Given the description of an element on the screen output the (x, y) to click on. 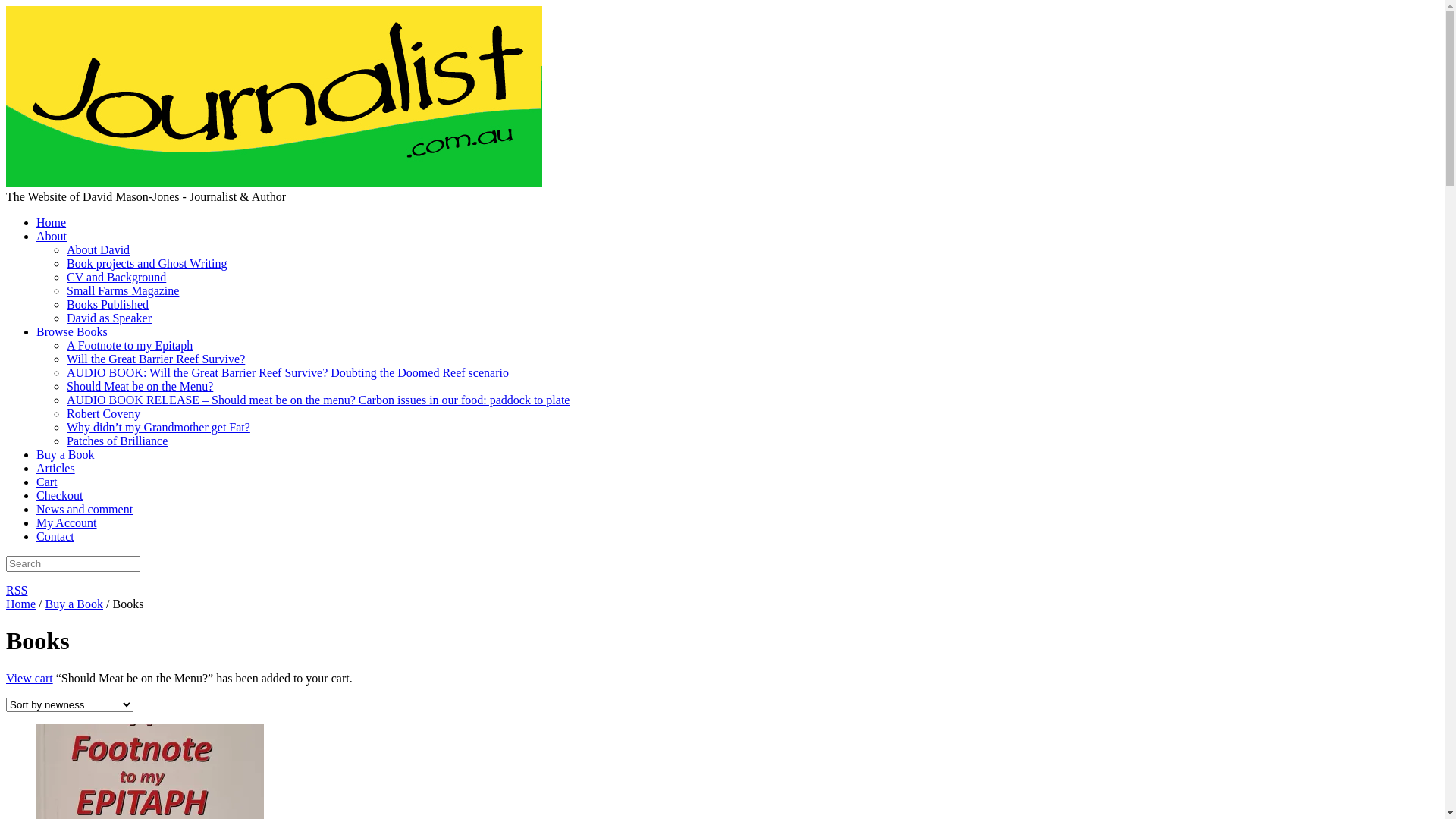
Robert Coveny Element type: text (103, 413)
Book projects and Ghost Writing Element type: text (146, 263)
View cart Element type: text (29, 677)
Books Published Element type: text (107, 304)
About Element type: text (51, 235)
My Account Element type: text (66, 522)
Should Meat be on the Menu? Element type: text (139, 385)
Patches of Brilliance Element type: text (116, 440)
CV and Background Element type: text (116, 276)
Home Element type: text (50, 222)
News and comment Element type: text (84, 508)
RSS Element type: text (16, 589)
Checkout Element type: text (59, 495)
A Footnote to my Epitaph Element type: text (129, 344)
Browse Books Element type: text (71, 331)
Will the Great Barrier Reef Survive? Element type: text (155, 358)
About David Element type: text (97, 249)
Contact Element type: text (55, 536)
Journalist.com.au Element type: hover (274, 182)
Home Element type: text (20, 603)
Cart Element type: text (46, 481)
David as Speaker Element type: text (108, 317)
Buy a Book Element type: text (65, 454)
Journalist.com.au Element type: hover (274, 96)
Buy a Book Element type: text (74, 603)
Small Farms Magazine Element type: text (122, 290)
Articles Element type: text (55, 467)
